Given the description of an element on the screen output the (x, y) to click on. 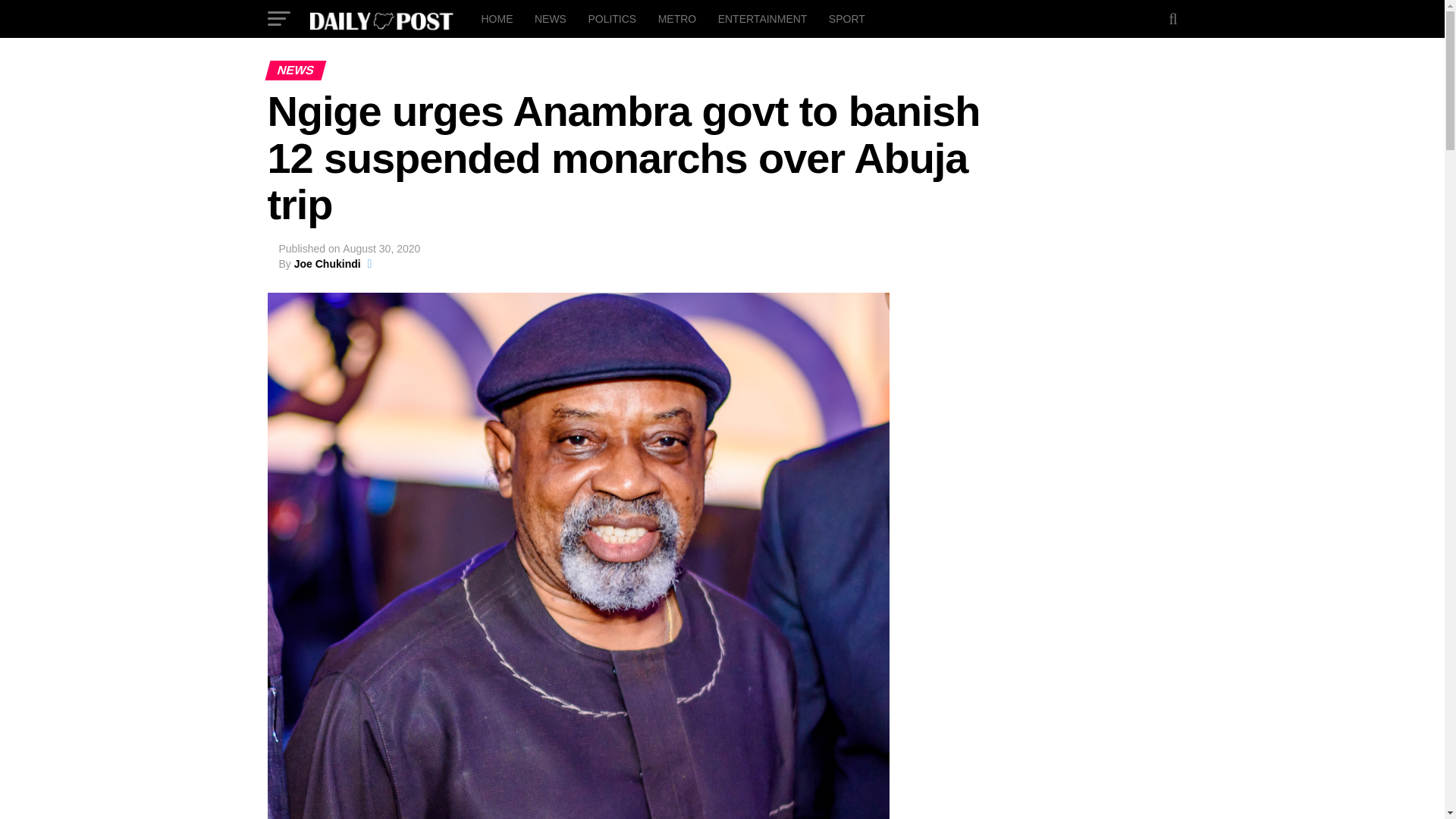
ENTERTAINMENT (762, 18)
METRO (677, 18)
Posts by Joe Chukindi (327, 263)
SPORT (847, 18)
Joe Chukindi (327, 263)
HOME (496, 18)
NEWS (550, 18)
POLITICS (611, 18)
